Given the description of an element on the screen output the (x, y) to click on. 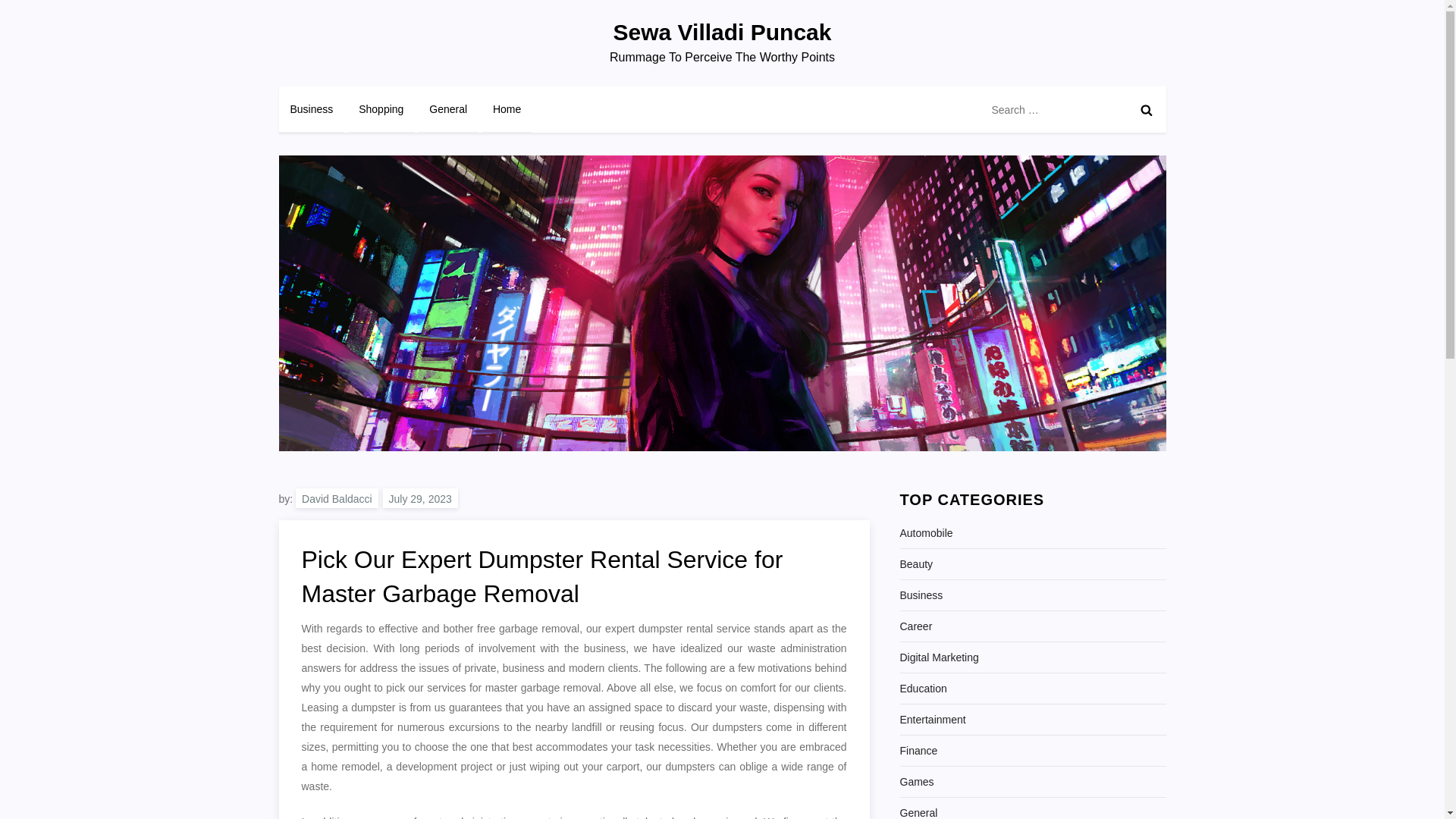
Finance (918, 750)
Automobile (925, 532)
Sewa Villadi Puncak (721, 32)
Business (312, 108)
Home (506, 108)
July 29, 2023 (420, 497)
Career (915, 626)
Digital Marketing (938, 657)
Business (920, 595)
Entertainment (932, 719)
